Given the description of an element on the screen output the (x, y) to click on. 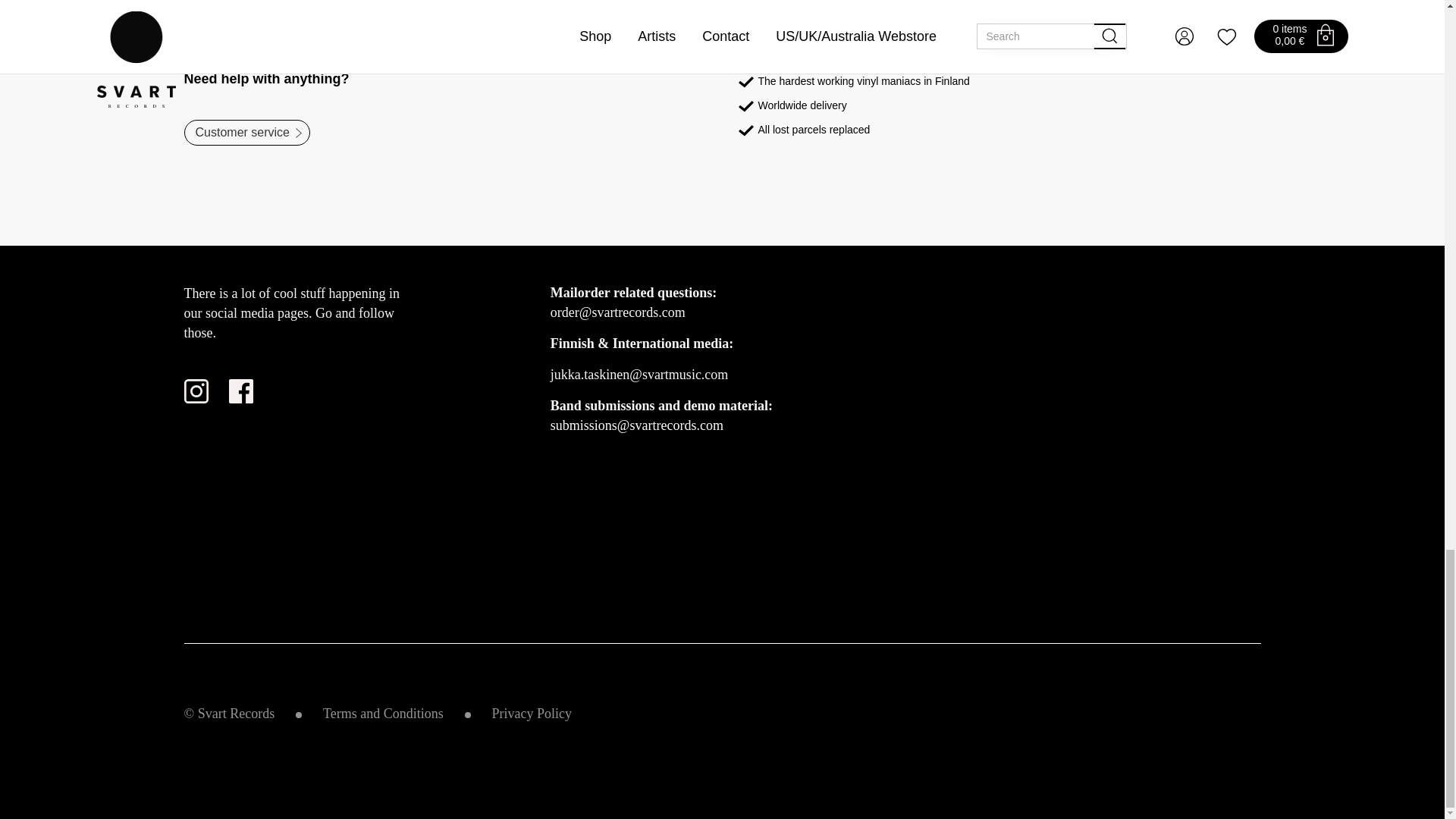
check (745, 105)
check (745, 129)
next (298, 132)
check (745, 81)
